Given the description of an element on the screen output the (x, y) to click on. 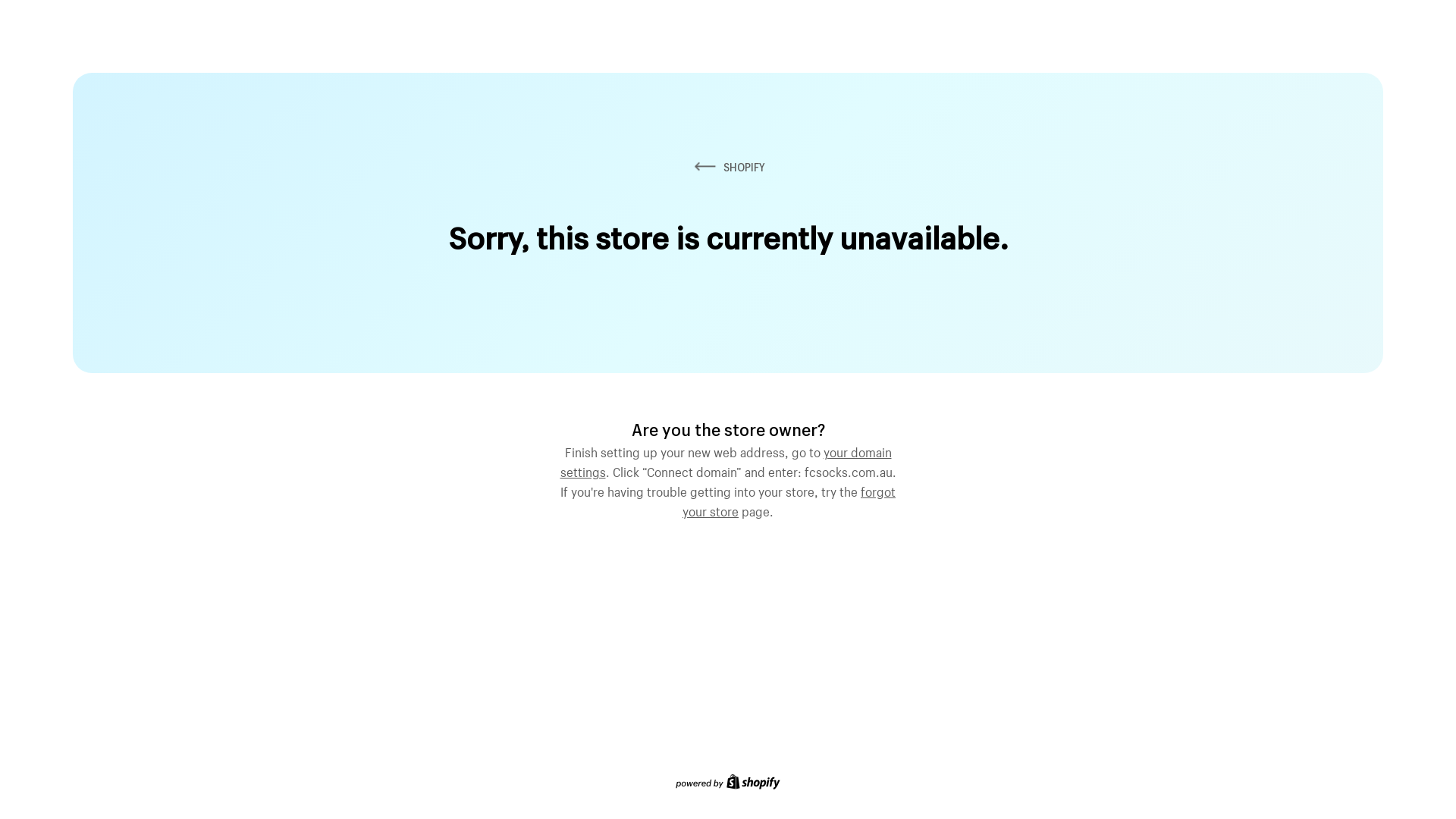
SHOPIFY Element type: text (727, 167)
your domain settings Element type: text (725, 460)
forgot your store Element type: text (788, 499)
